Given the description of an element on the screen output the (x, y) to click on. 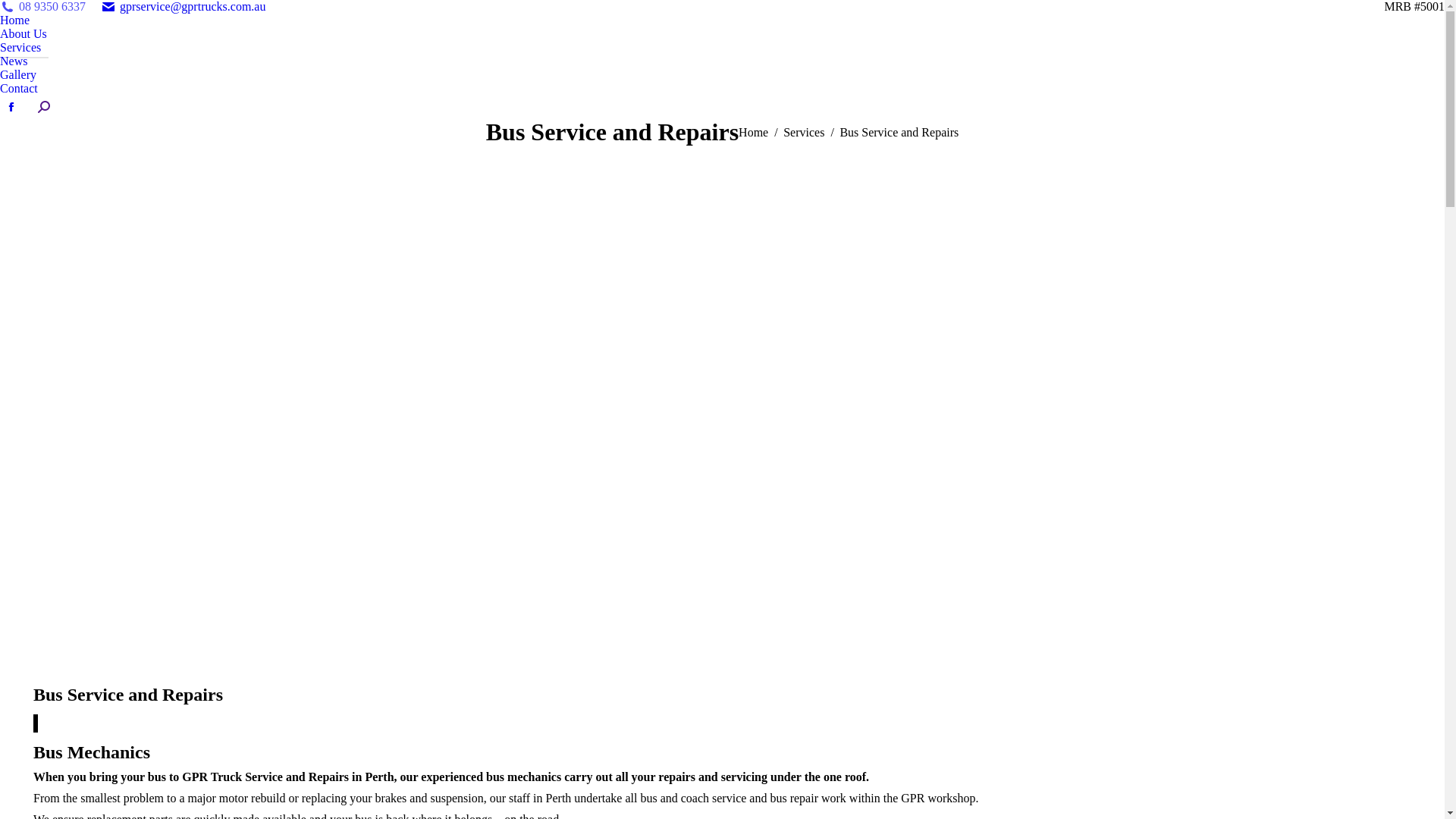
News Element type: text (13, 61)
Gallery Element type: text (18, 74)
Facebook page opens in new window Element type: text (11, 106)
gprservice@gprtrucks.com.au Element type: text (182, 6)
Contact Element type: text (18, 88)
Services Element type: text (803, 131)
Services Element type: text (24, 47)
Home Element type: text (753, 131)
Go! Element type: text (11, 8)
About Us Element type: text (23, 33)
08 9350 6337 Element type: text (42, 6)
Home Element type: text (14, 20)
